Given the description of an element on the screen output the (x, y) to click on. 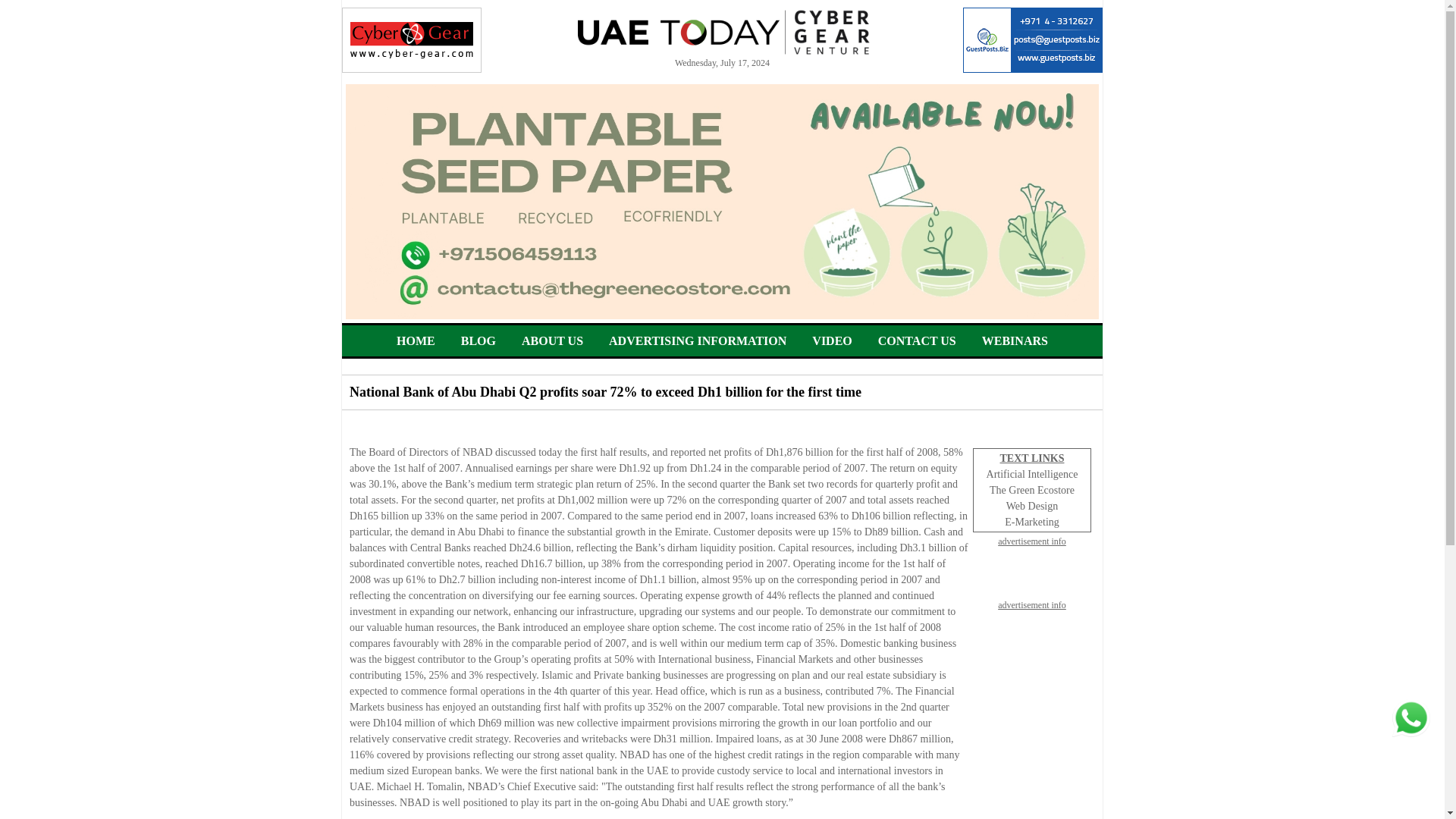
WEBINARS (1014, 340)
VIDEO (831, 340)
CONTACT US (916, 340)
Cyber Gear (411, 39)
ADVERTISING INFORMATION (697, 340)
UAE Today (722, 32)
Guest Posts (1032, 39)
ABOUT US (552, 340)
Artificial Intelligence (1032, 473)
advertisement info (1031, 541)
E-Marketing (1031, 521)
advertisement info (1031, 604)
ONLY webinars (1014, 340)
Web Design (1032, 505)
